Given the description of an element on the screen output the (x, y) to click on. 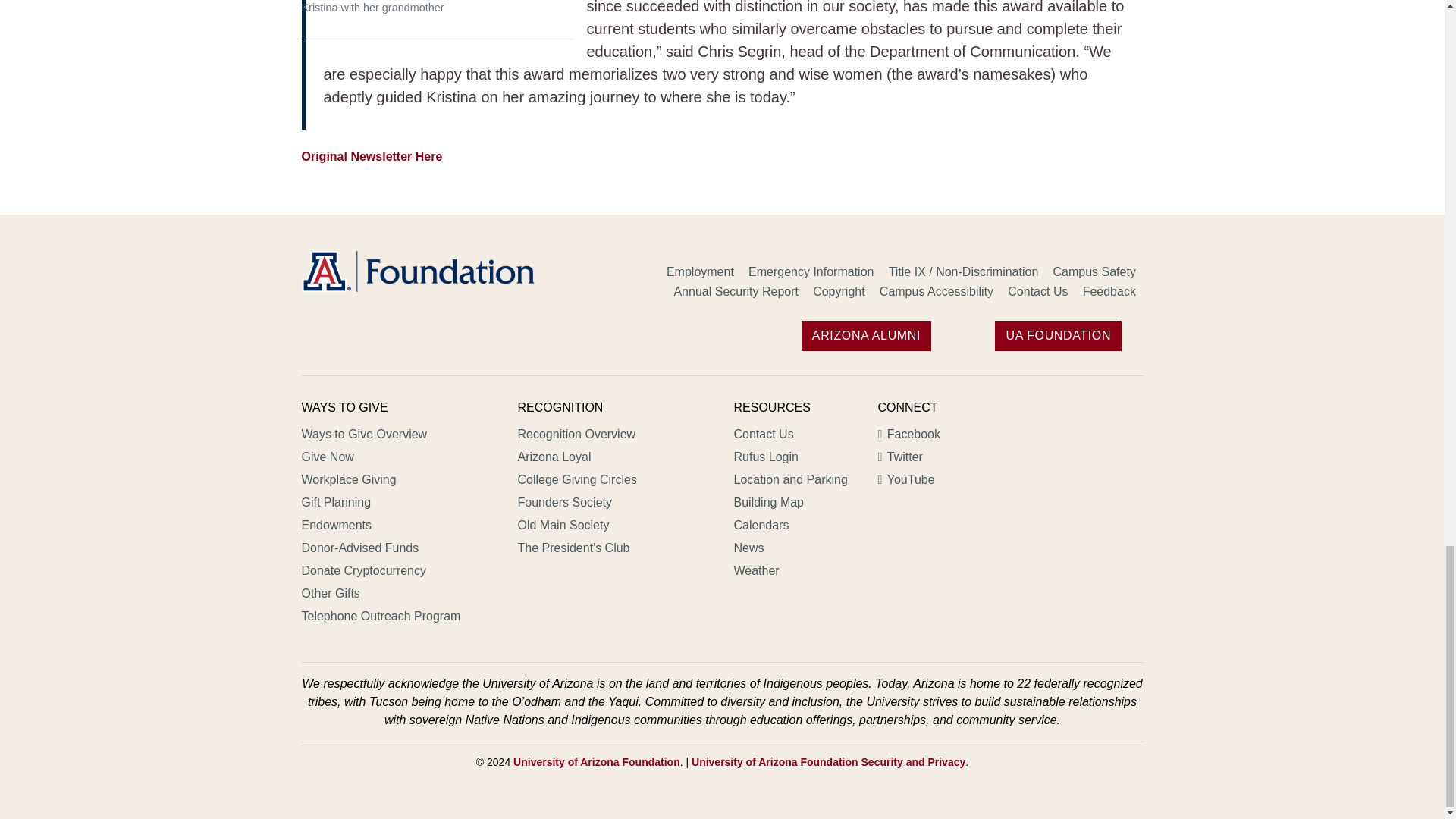
Original Newsletter Here (371, 155)
Employment (699, 272)
Emergency Information (810, 272)
